Given the description of an element on the screen output the (x, y) to click on. 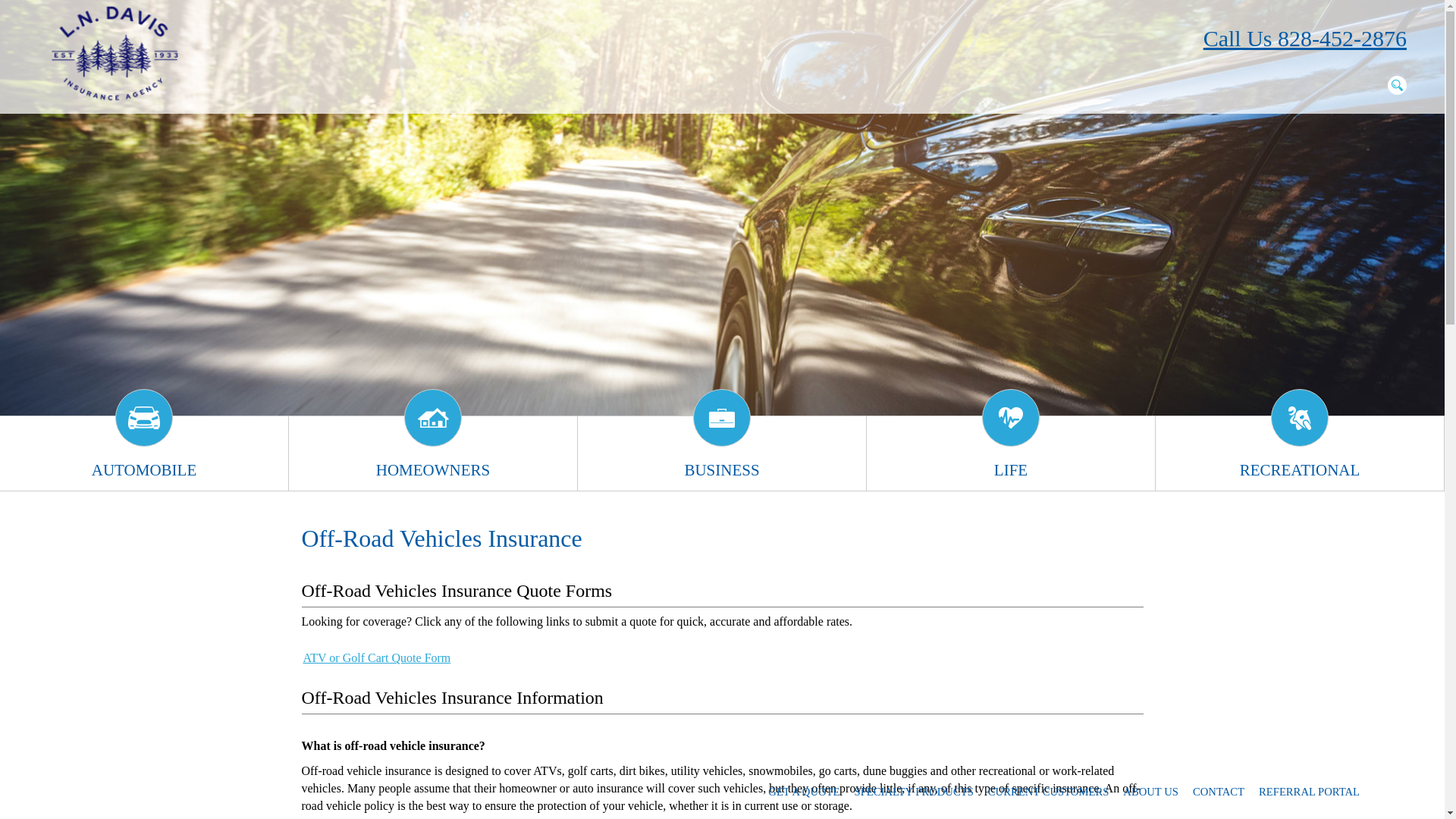
GET A QUOTE (803, 791)
Call Us 828-452-2876 (1305, 38)
SPECIALTY PRODUCTS (913, 791)
